Given the description of an element on the screen output the (x, y) to click on. 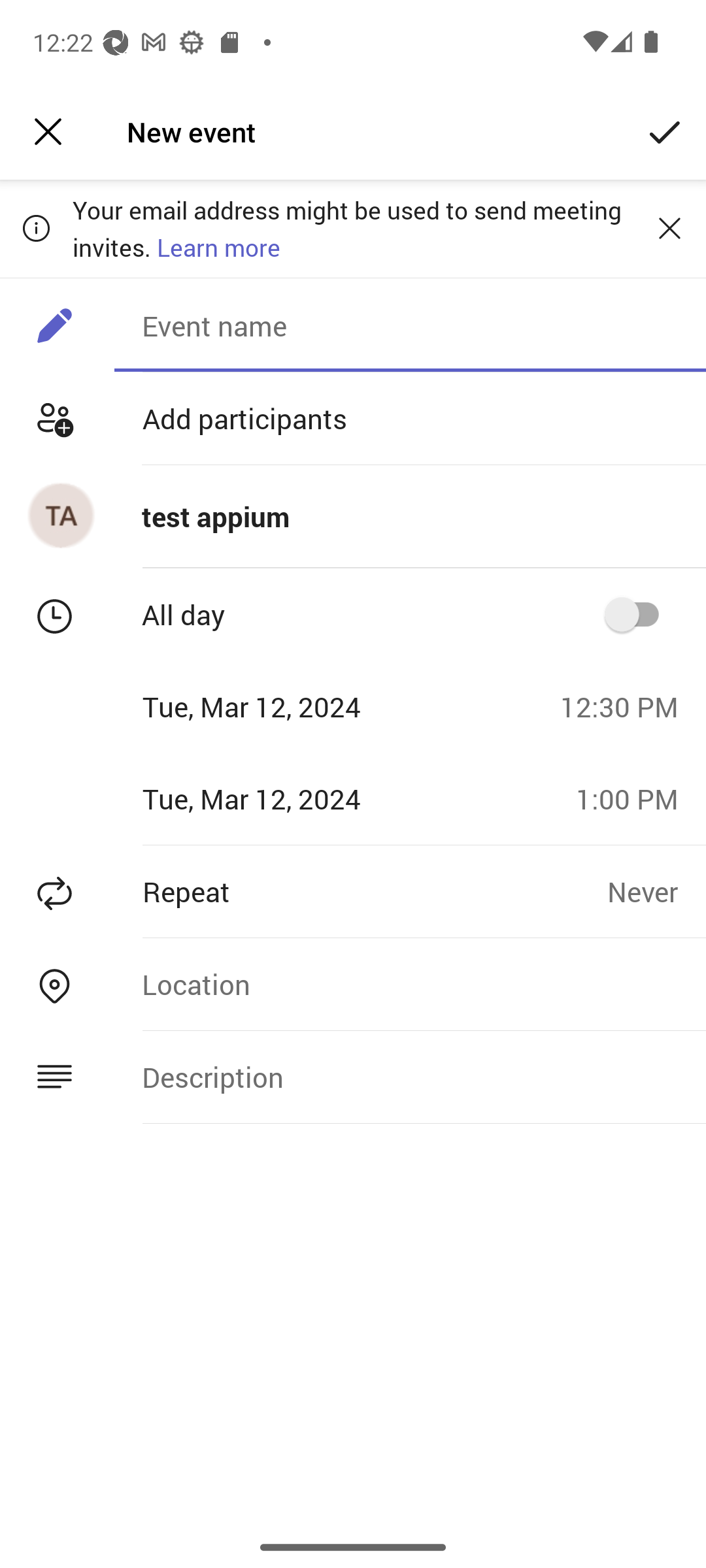
Back (48, 131)
Send invite (665, 131)
Dismiss banner (669, 228)
Event name (410, 325)
Add participants Add participants option (353, 418)
All day (638, 614)
Tue, Mar 12, 2024 Starts Tuesday Mar 12, 2024 (273, 706)
12:30 PM Start time 12:30 PM (626, 706)
Tue, Mar 12, 2024 Ends Tuesday Mar 12, 2024 (280, 798)
1:00 PM End time 1:00 PM (633, 798)
Repeat (303, 891)
Never Repeat Never (656, 891)
Location (410, 983)
Description (410, 1076)
